Given the description of an element on the screen output the (x, y) to click on. 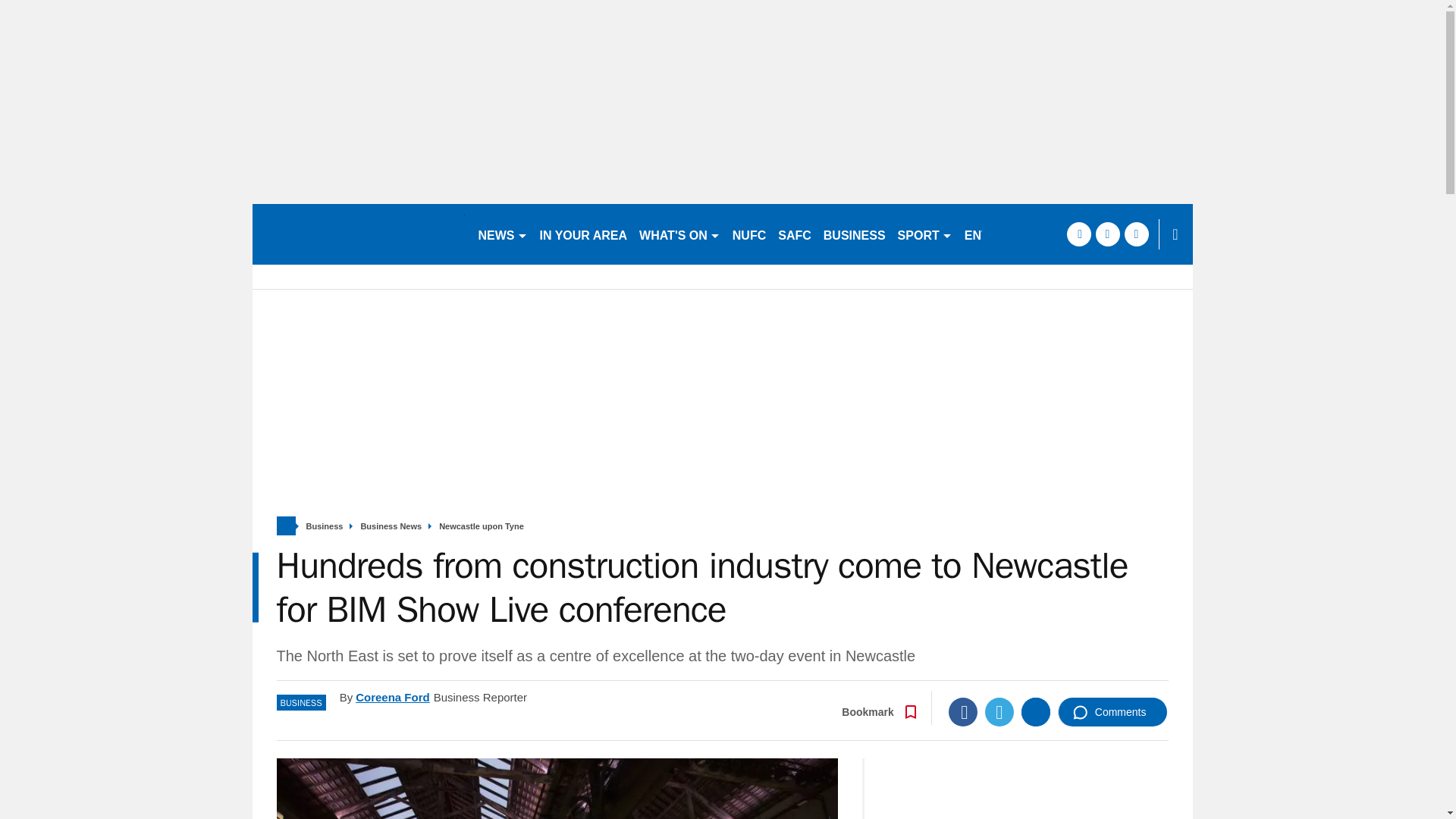
IN YOUR AREA (583, 233)
Facebook (962, 711)
twitter (1026, 233)
WHAT'S ON (679, 233)
instagram (1055, 233)
BUSINESS (853, 233)
Twitter (999, 711)
facebook (997, 233)
Comments (1112, 711)
NEWS (501, 233)
SPORT (924, 233)
nechronicle (357, 233)
